Given the description of an element on the screen output the (x, y) to click on. 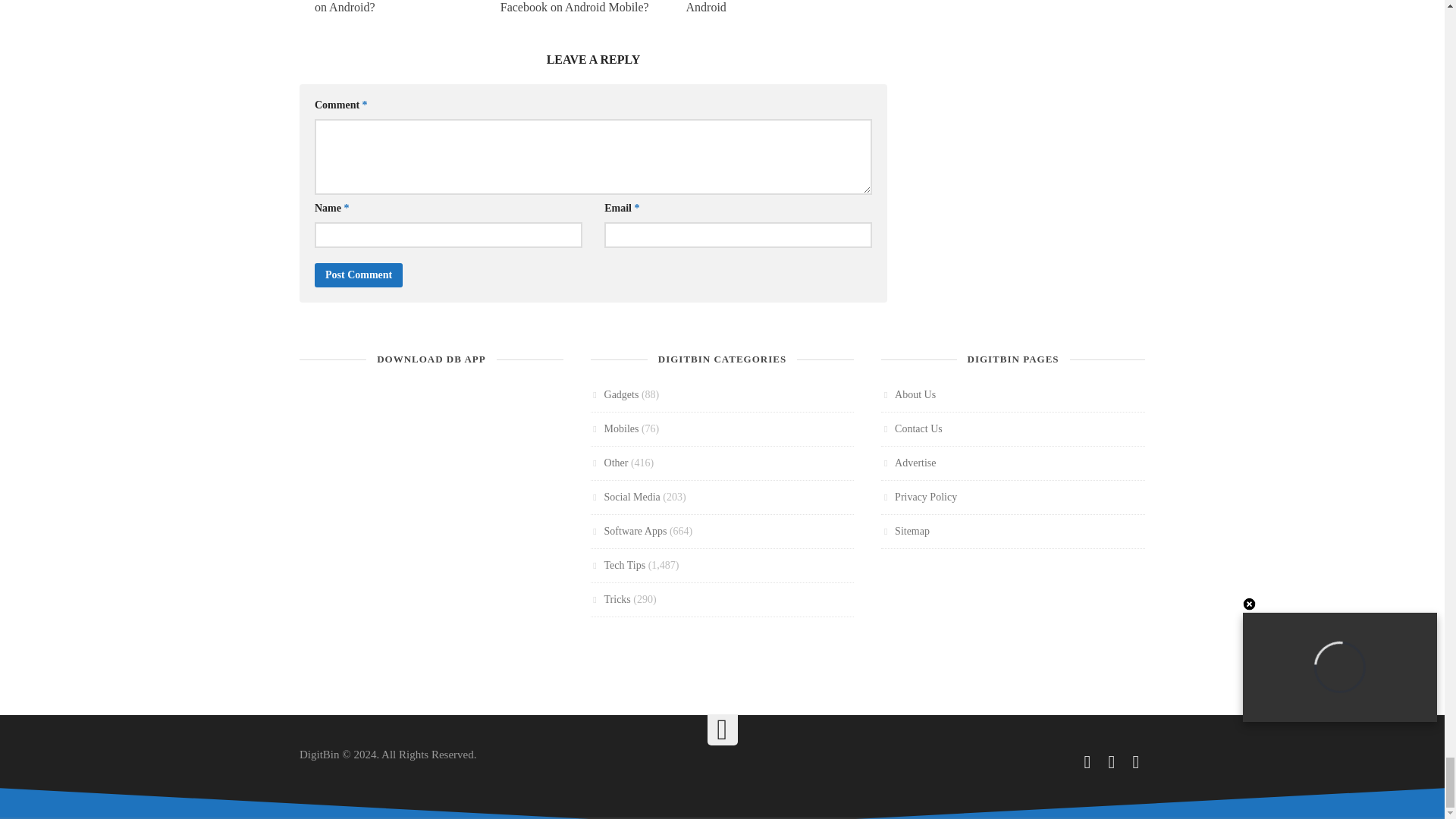
Post Comment (358, 274)
